Given the description of an element on the screen output the (x, y) to click on. 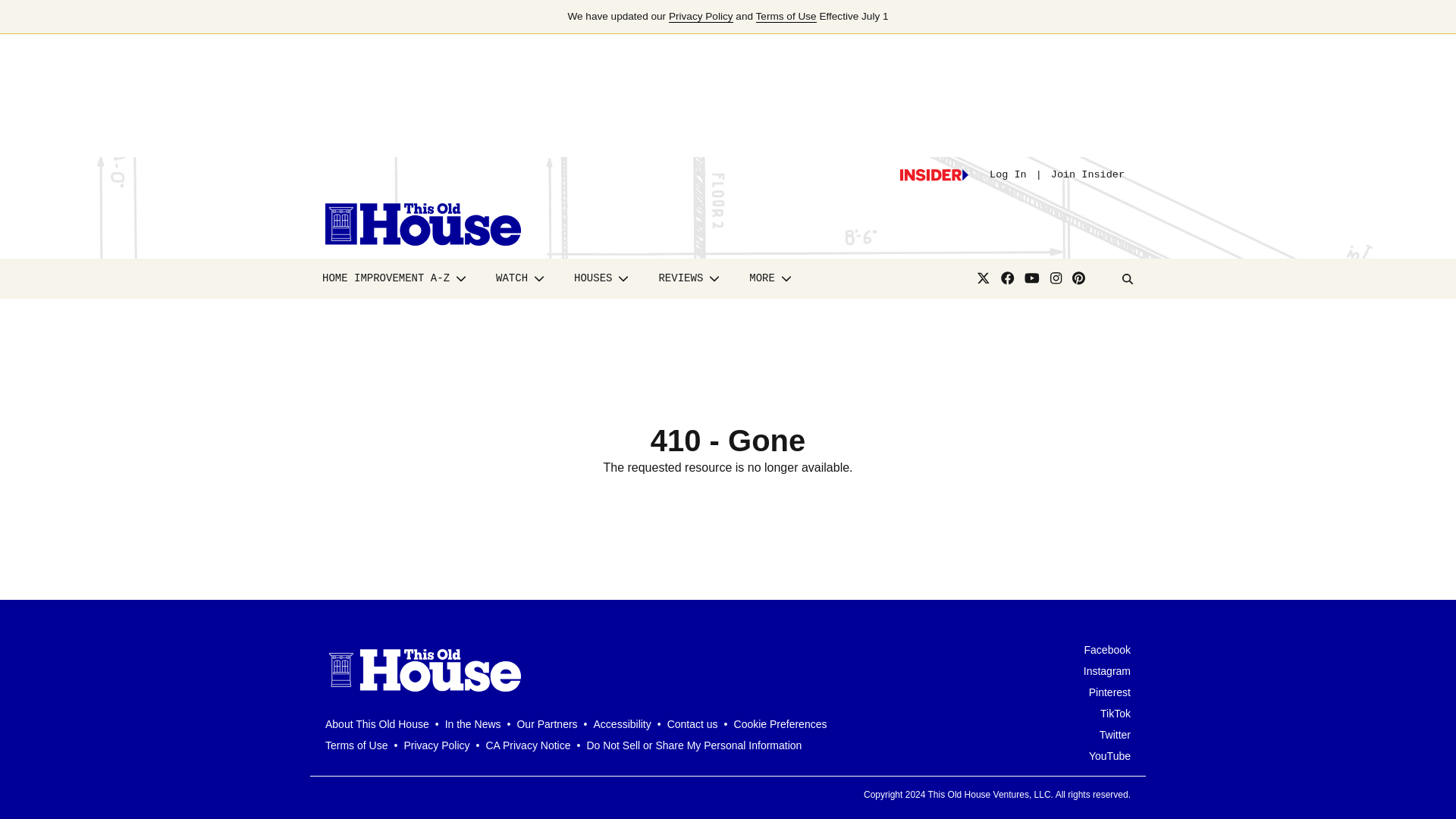
Log in or sign up (933, 174)
Privacy Policy (700, 16)
Join Insider (1087, 174)
Log In (1008, 174)
Terms of Use (785, 16)
